Given the description of an element on the screen output the (x, y) to click on. 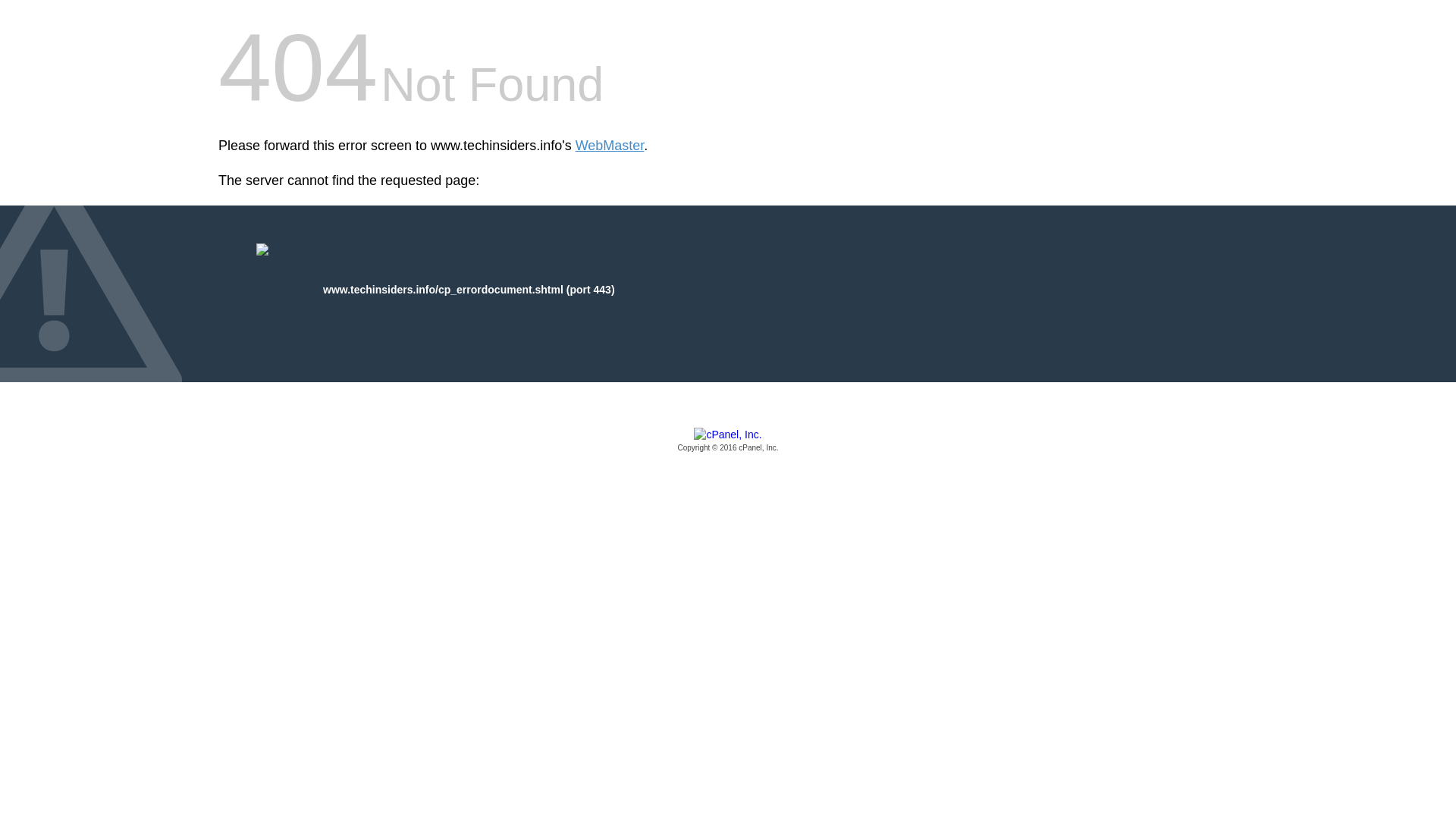
WebMaster (610, 145)
cPanel, Inc. (727, 440)
